Given the description of an element on the screen output the (x, y) to click on. 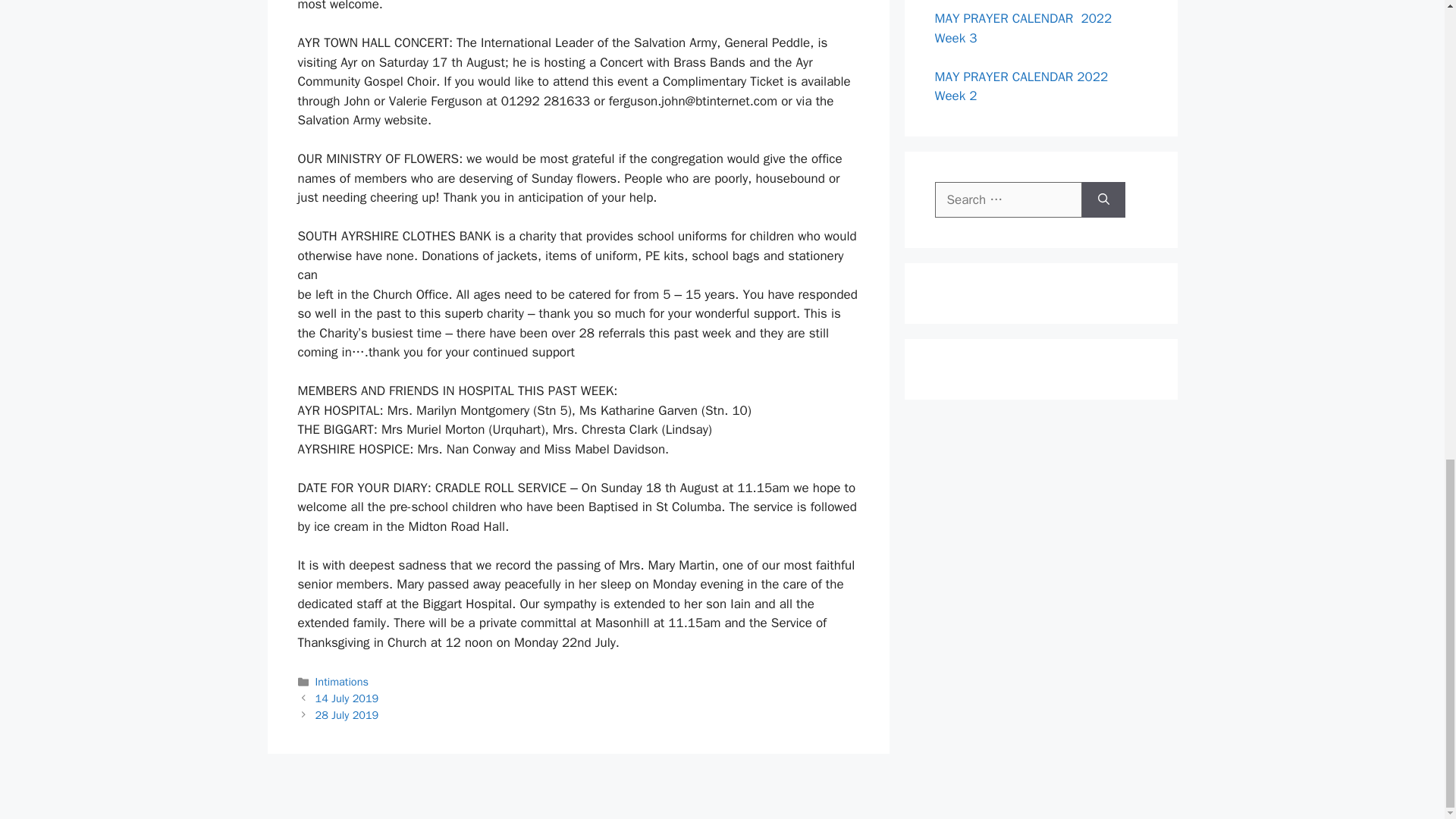
MAY PRAYER CALENDAR 2022   Week 2 (1024, 86)
MAY PRAYER CALENDAR  2022   Week 3 (1026, 27)
Search for: (1007, 198)
28 July 2019 (346, 714)
Intimations (341, 681)
14 July 2019 (346, 698)
